Given the description of an element on the screen output the (x, y) to click on. 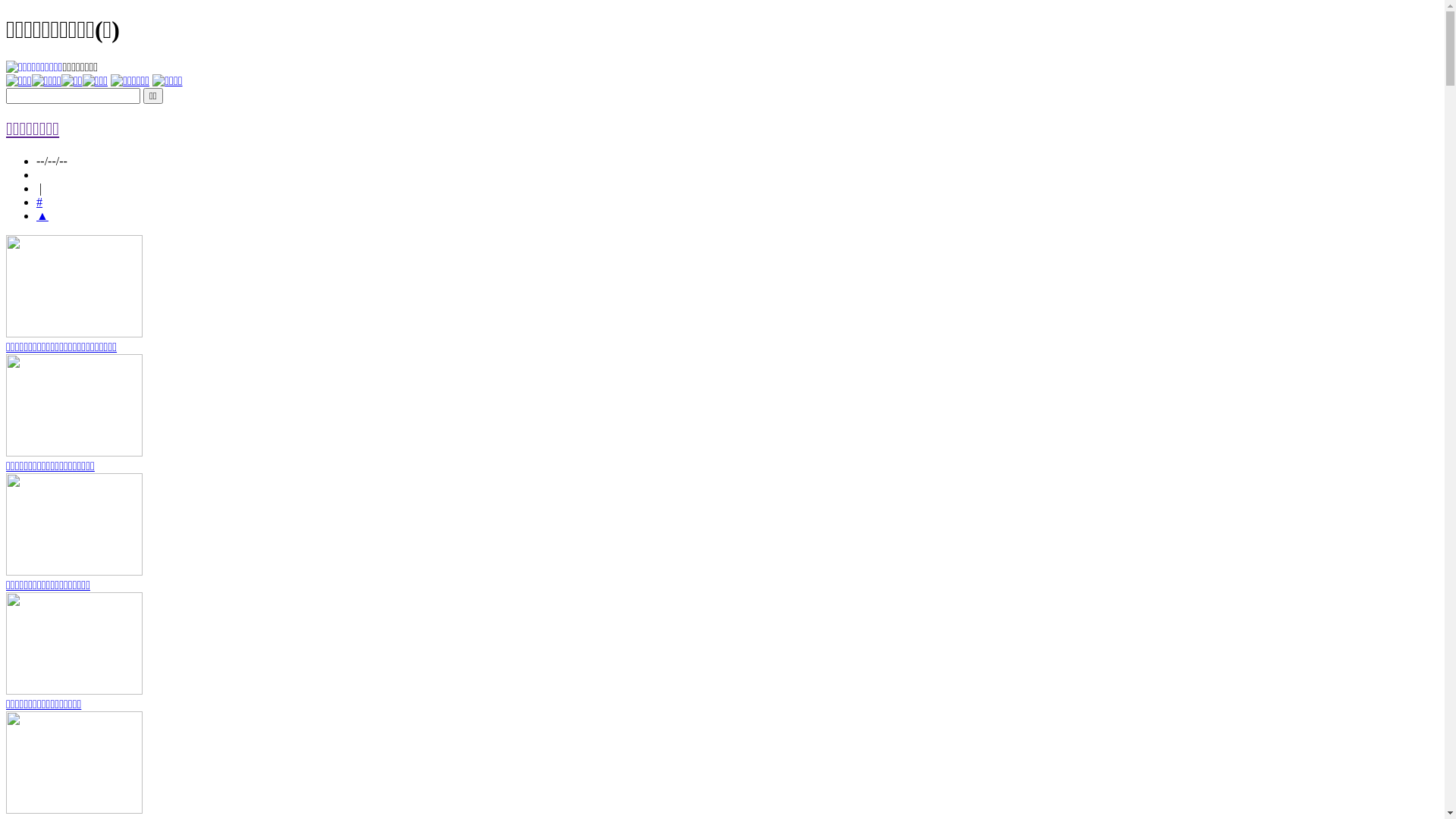
# Element type: text (39, 201)
